Given the description of an element on the screen output the (x, y) to click on. 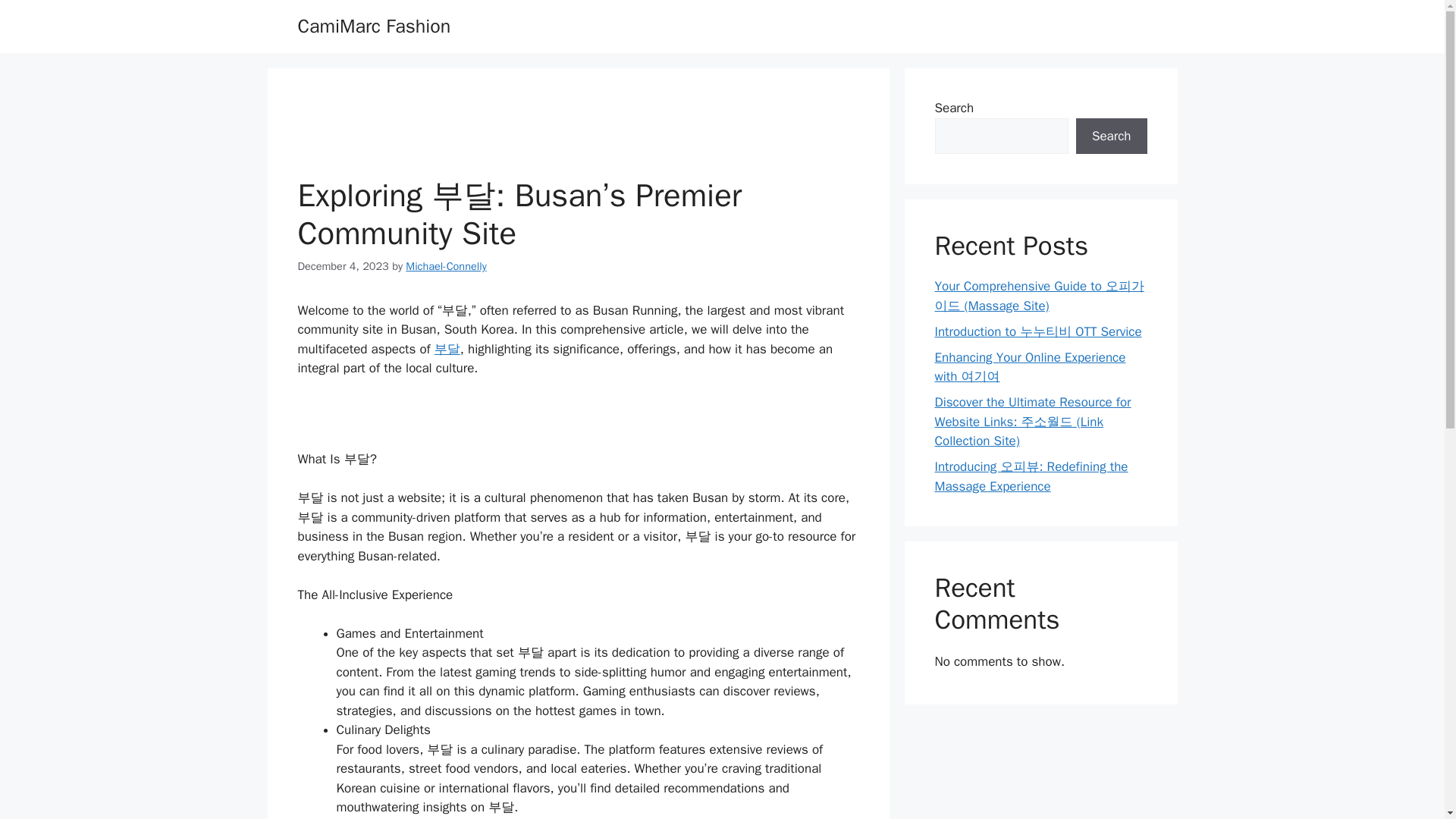
Search (1111, 135)
CamiMarc Fashion (373, 25)
View all posts by Michael-Connelly (446, 265)
Michael-Connelly (446, 265)
